Given the description of an element on the screen output the (x, y) to click on. 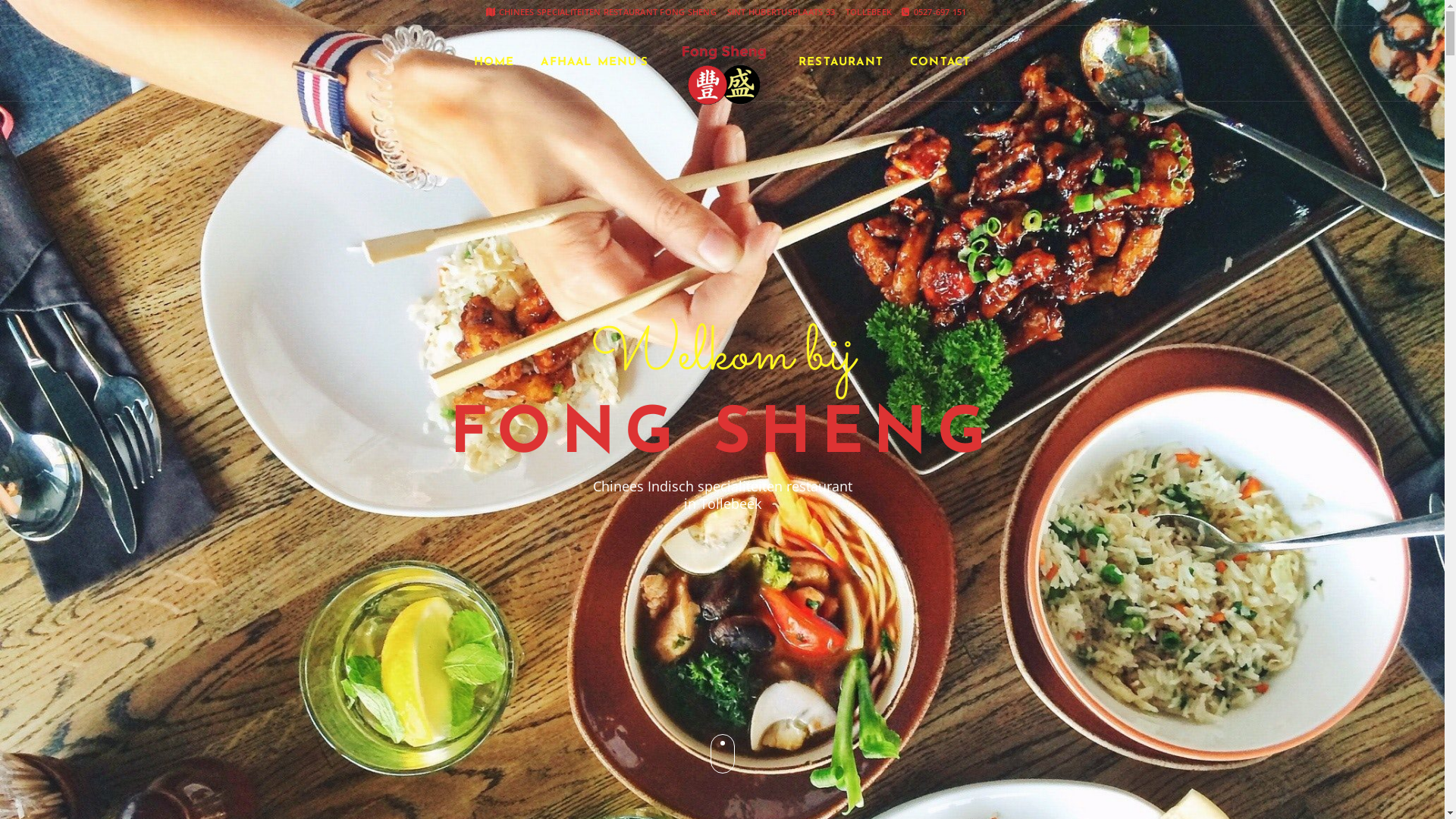
RESTAURANT Element type: text (840, 62)
CONTACT Element type: text (940, 62)
HOME Element type: text (493, 62)
0527-697 151 Element type: text (933, 11)
